Given the description of an element on the screen output the (x, y) to click on. 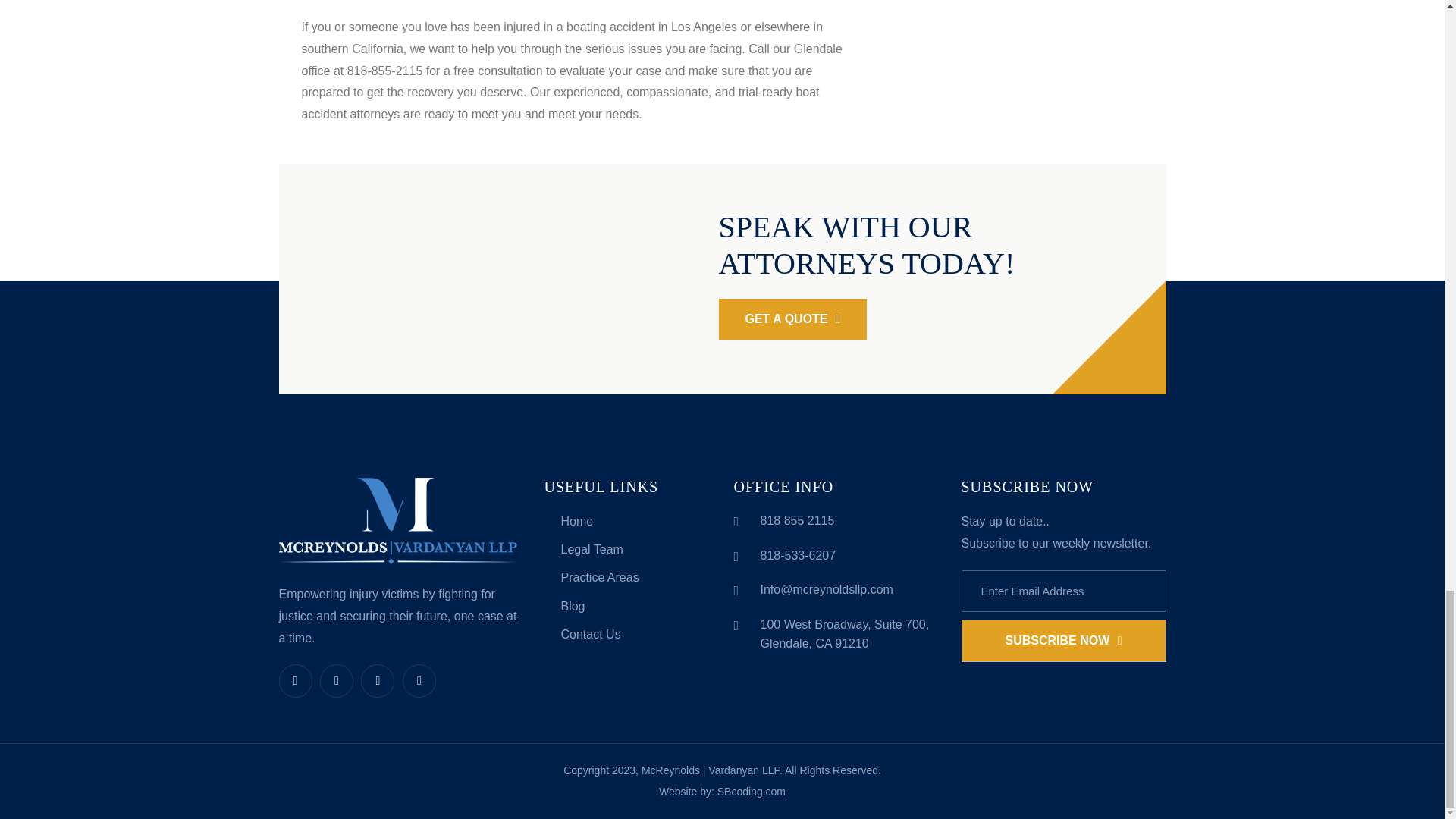
GET A QUOTE (792, 318)
Home (567, 521)
